Given the description of an element on the screen output the (x, y) to click on. 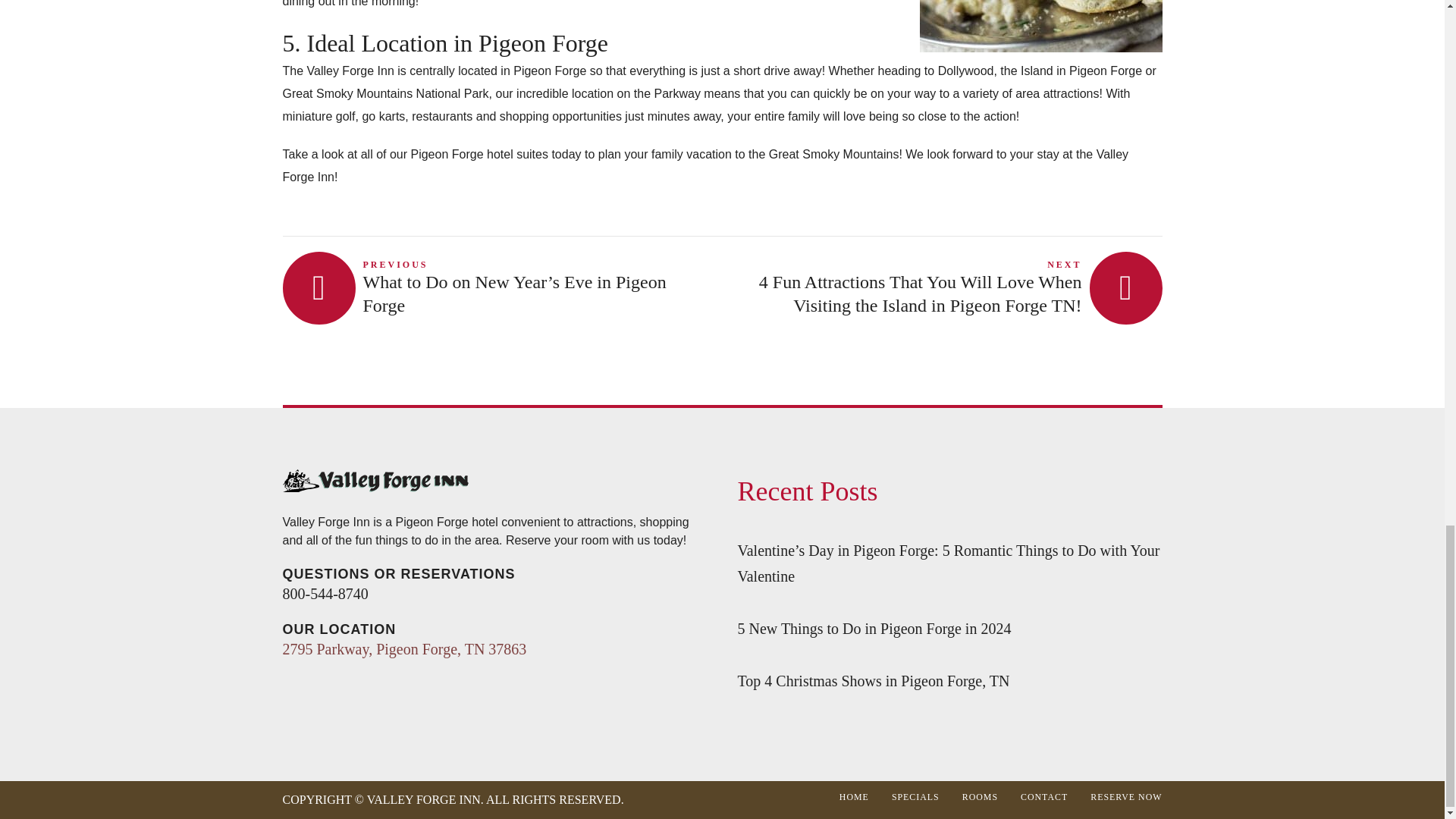
Pigeon Forge hotel suites (478, 154)
SPECIALS (915, 796)
CONTACT (1043, 796)
HOME (854, 796)
5 New Things to Do in Pigeon Forge in 2024 (873, 628)
RESERVE NOW (1125, 796)
800-544-8740 (325, 593)
ROOMS (979, 796)
Top 4 Christmas Shows in Pigeon Forge, TN (872, 680)
Island in Pigeon Forge (1080, 70)
